Given the description of an element on the screen output the (x, y) to click on. 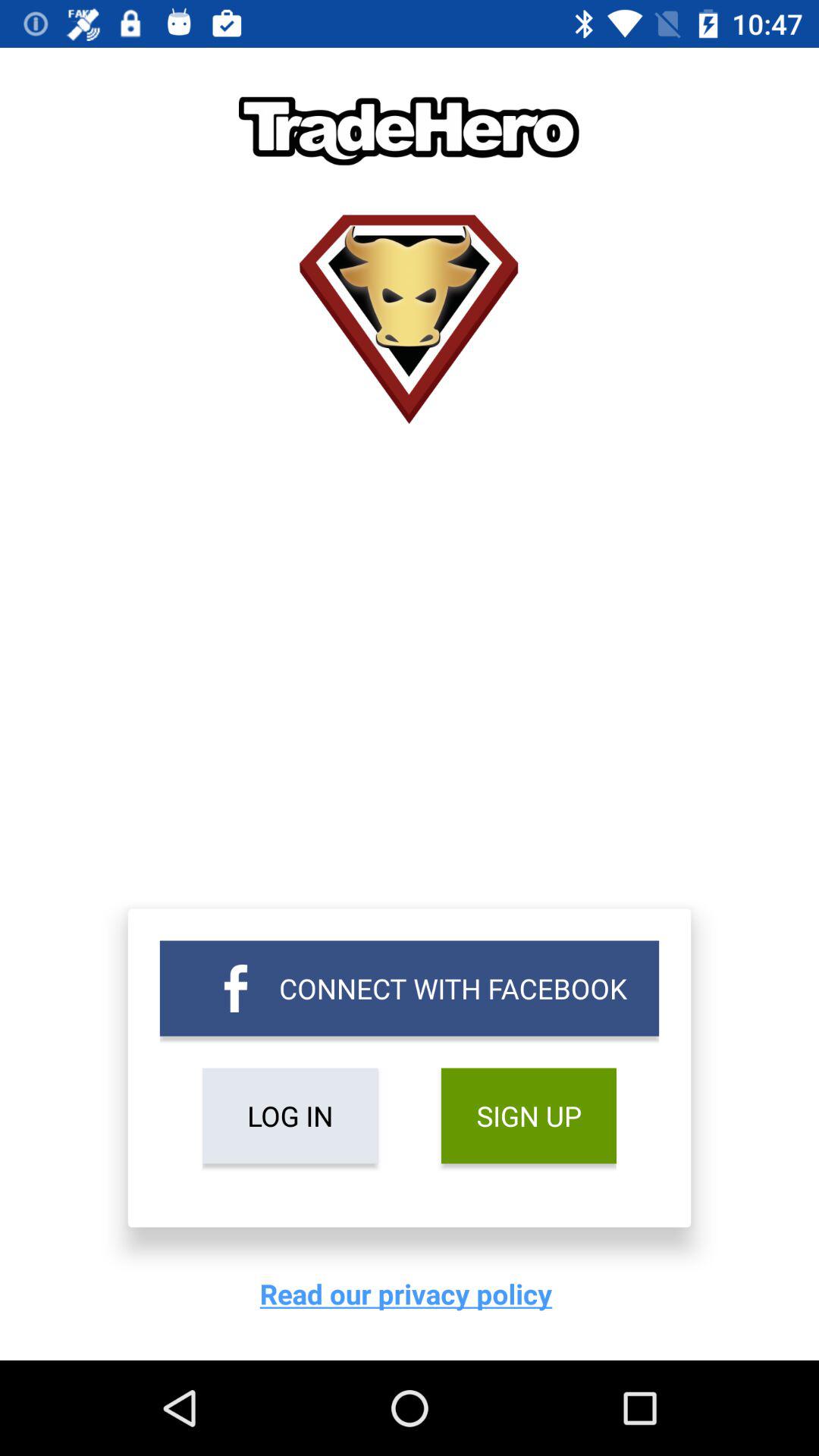
scroll to log in item (289, 1115)
